Given the description of an element on the screen output the (x, y) to click on. 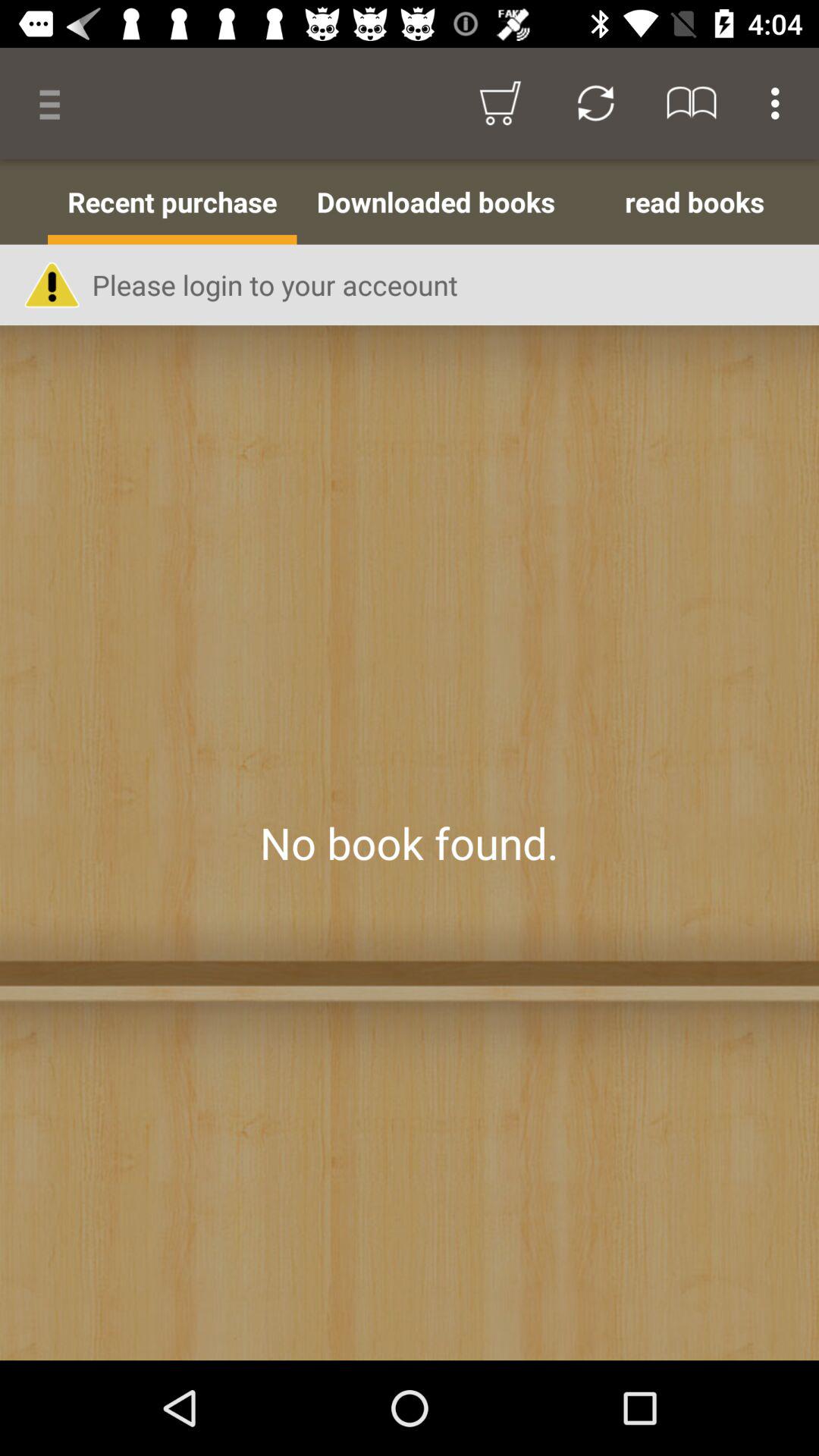
open all books item (23, 201)
